Given the description of an element on the screen output the (x, y) to click on. 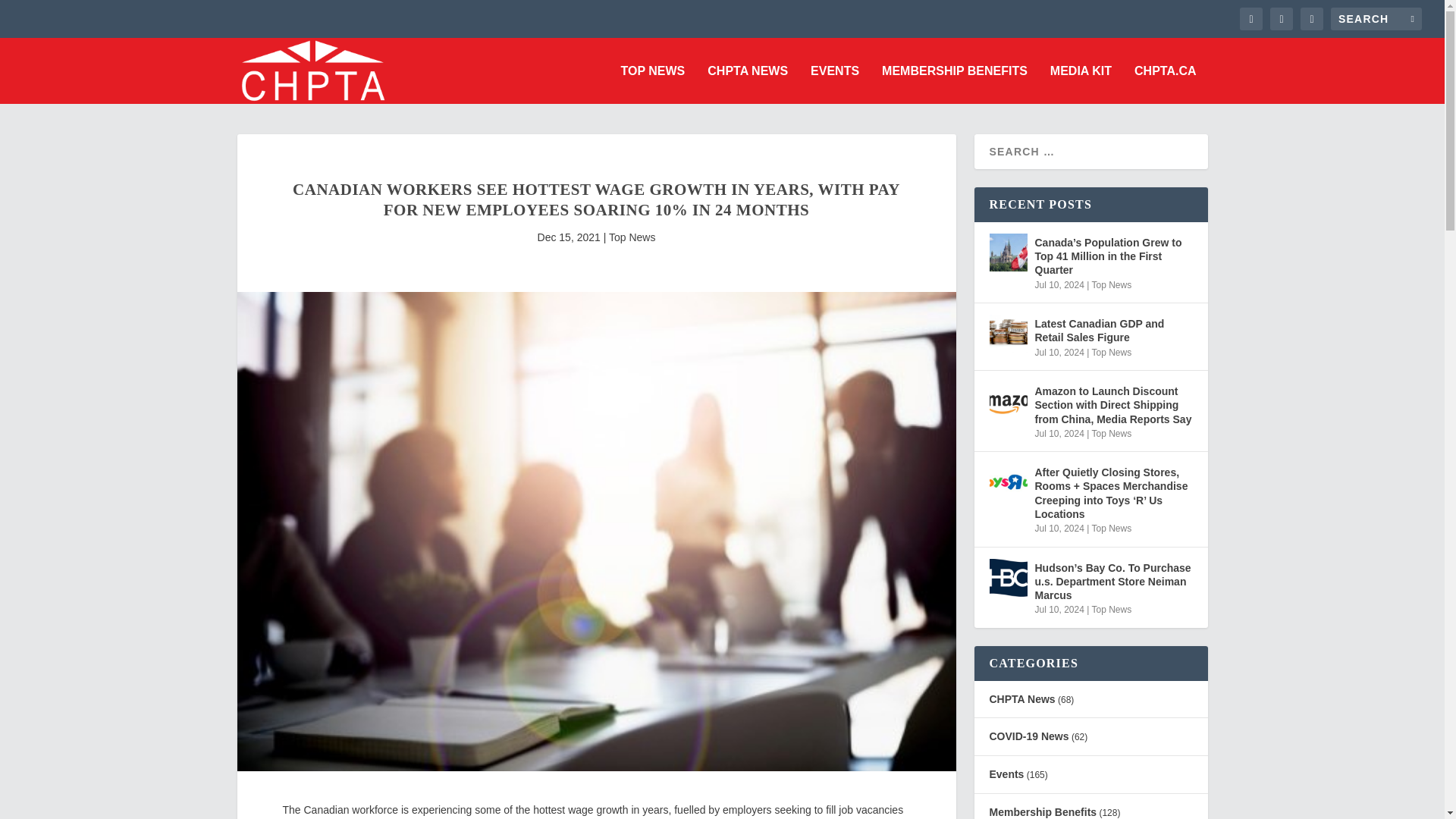
TOP NEWS (653, 84)
CHPTA.CA (1164, 84)
MEMBERSHIP BENEFITS (954, 84)
Search for: (1376, 18)
EVENTS (834, 84)
Latest Canadian GDP and Retail Sales Figure (1007, 333)
Top News (631, 236)
CHPTA NEWS (747, 84)
MEDIA KIT (1080, 84)
